Given the description of an element on the screen output the (x, y) to click on. 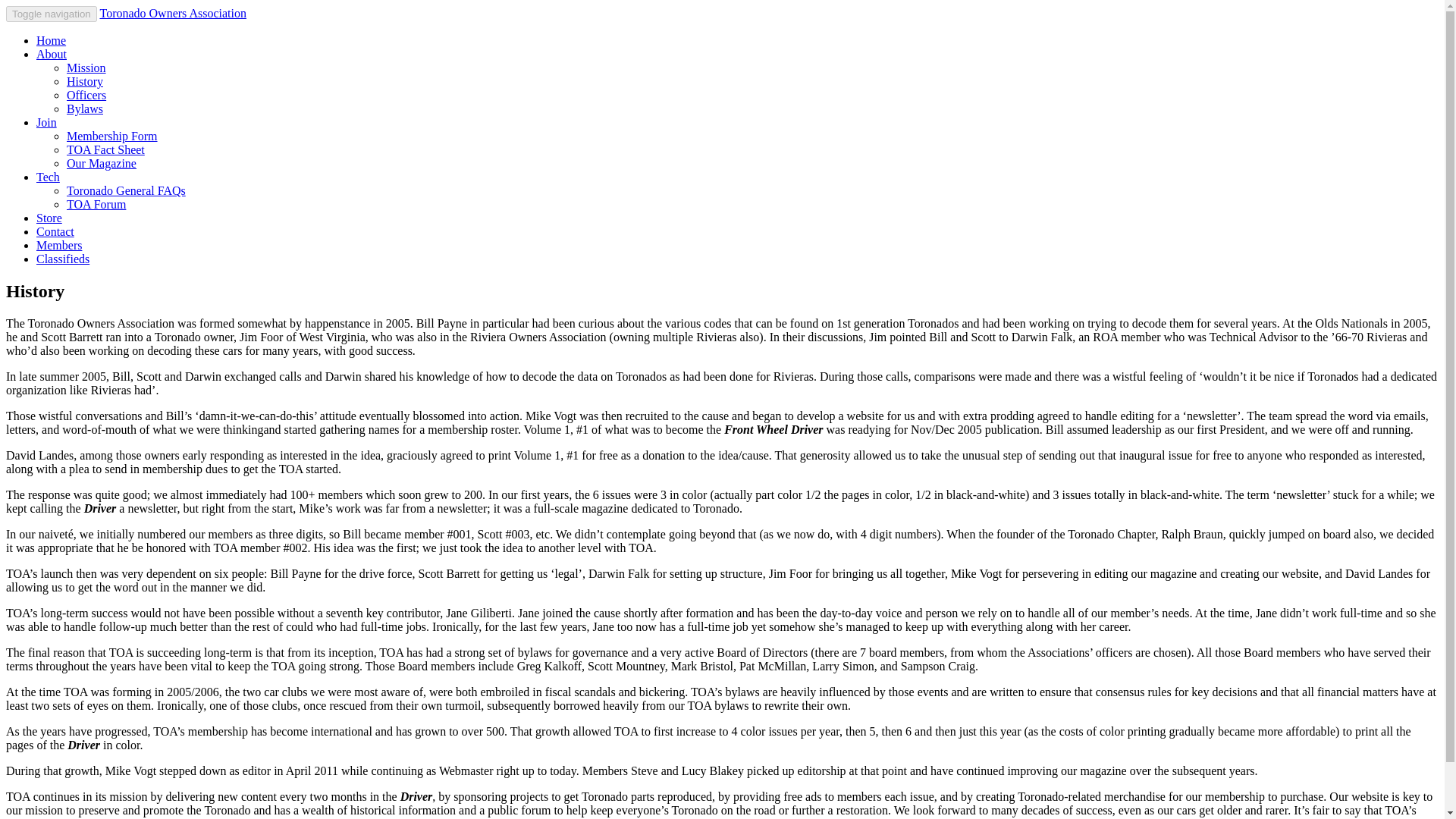
Toronado Owners Association (172, 12)
TOA Forum (95, 204)
Classifieds (62, 258)
Membership Form (111, 135)
Toronado General FAQs (126, 190)
Home (50, 40)
Store (49, 217)
Toggle navigation (51, 13)
Tech (47, 176)
TOA Fact Sheet (105, 149)
